Given the description of an element on the screen output the (x, y) to click on. 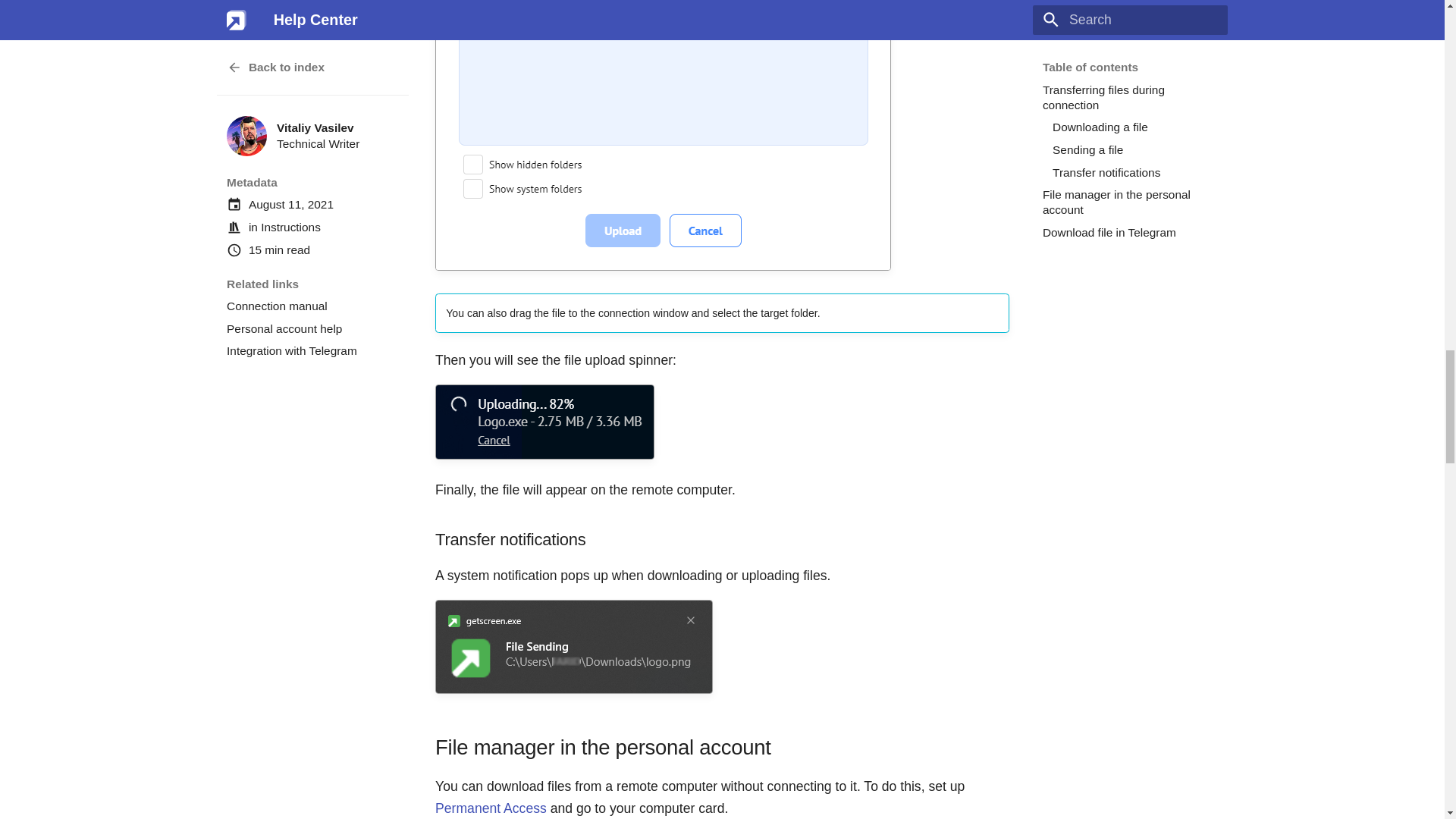
Permanent Access (491, 807)
